Given the description of an element on the screen output the (x, y) to click on. 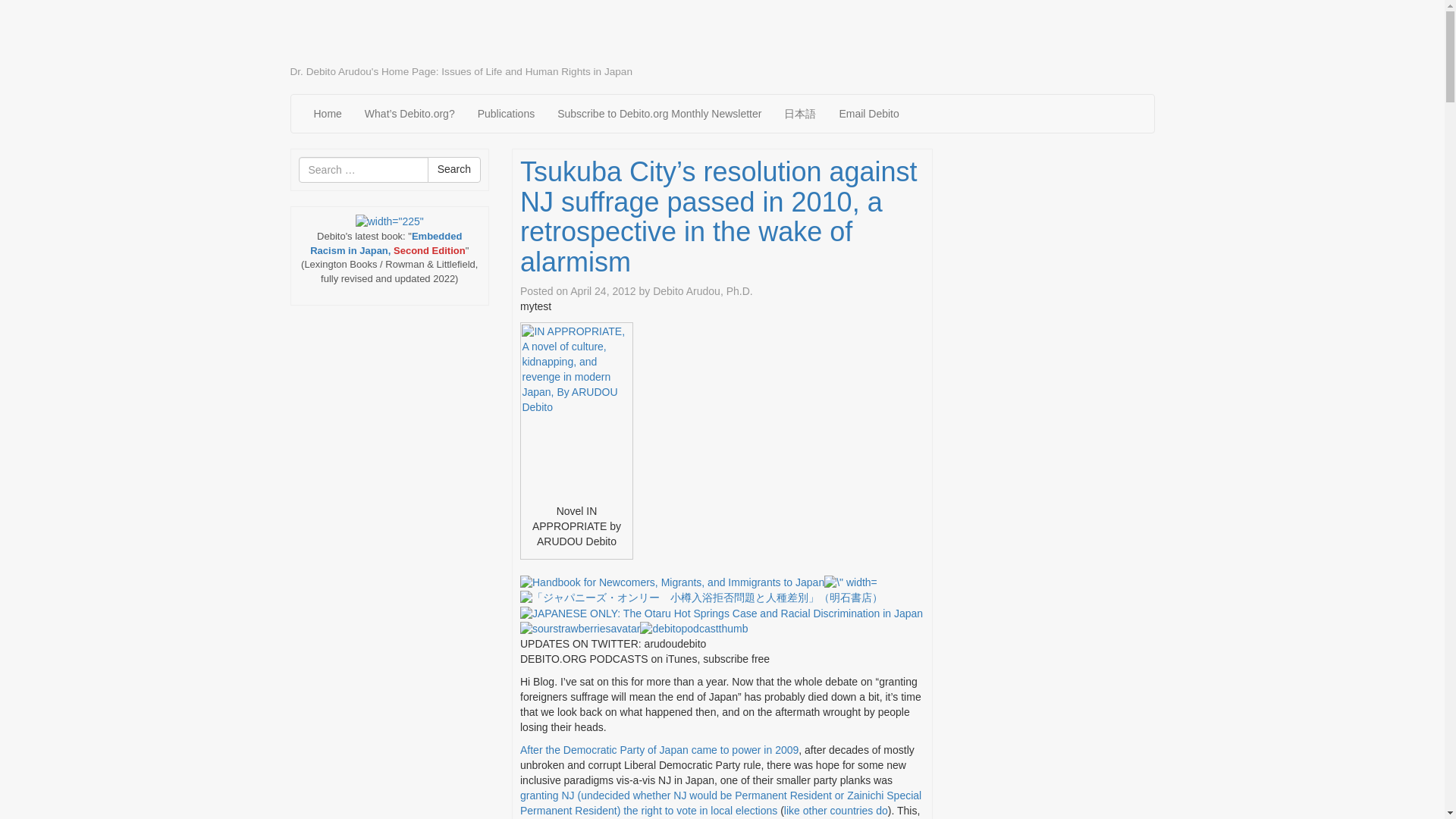
sourstrawberriesavatar (579, 629)
After the Democratic Party of Japan came to power in 2009 (658, 749)
Search (454, 169)
Home (326, 113)
Debito Arudou, Ph.D. (702, 291)
Email Debito (868, 113)
HANDBOOKsemifinalcover.jpg (671, 582)
8:33 am (602, 291)
Publications (506, 113)
like other countries do (836, 810)
debitopodcastthumb (694, 629)
debito.org (349, 35)
Subscribe to Debito.org Monthly Newsletter (659, 113)
debito.org (349, 35)
jobookcover (700, 598)
